Given the description of an element on the screen output the (x, y) to click on. 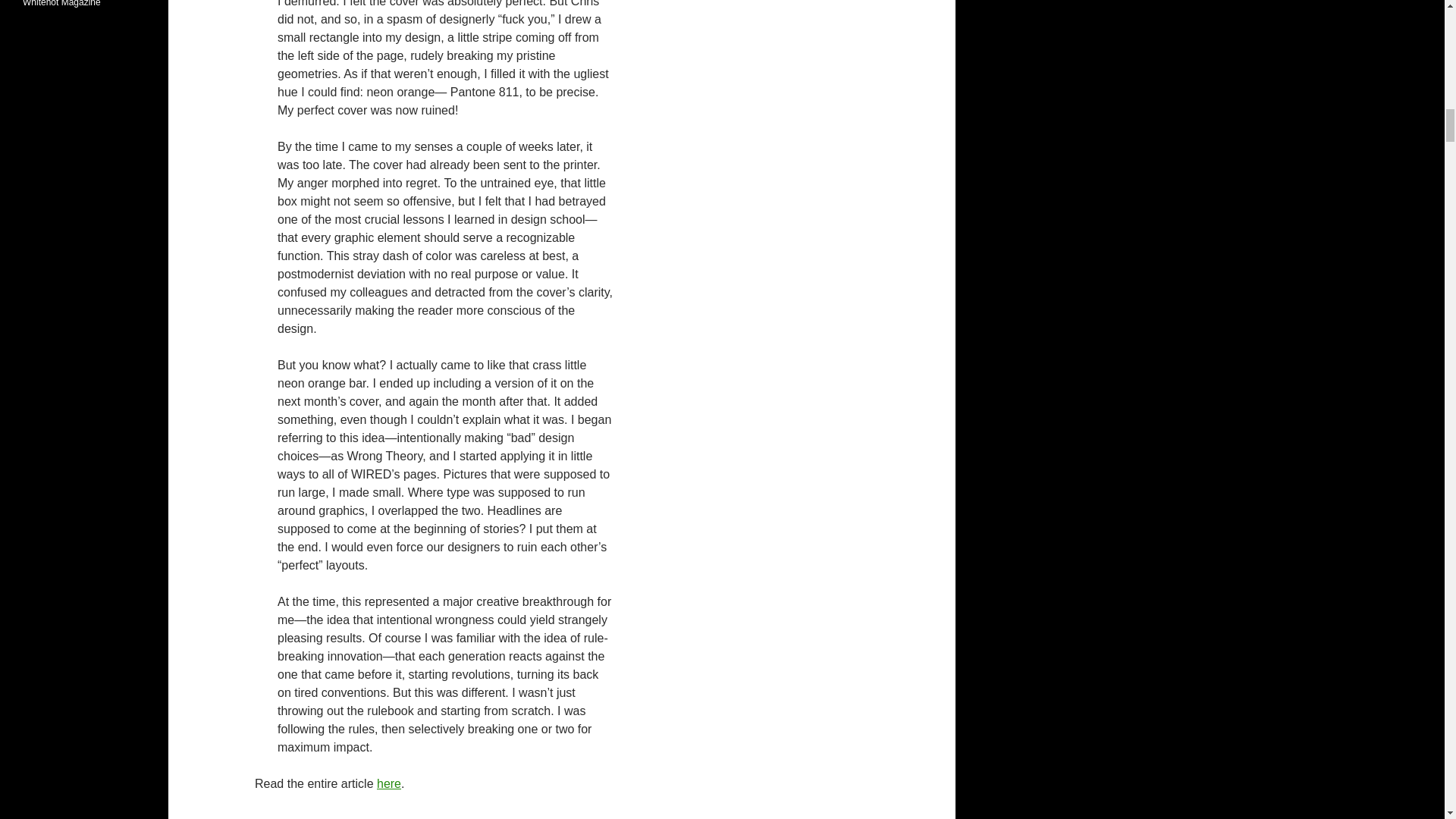
Why Getting It Wrong Is the Future of Design (389, 783)
here (389, 783)
